Given the description of an element on the screen output the (x, y) to click on. 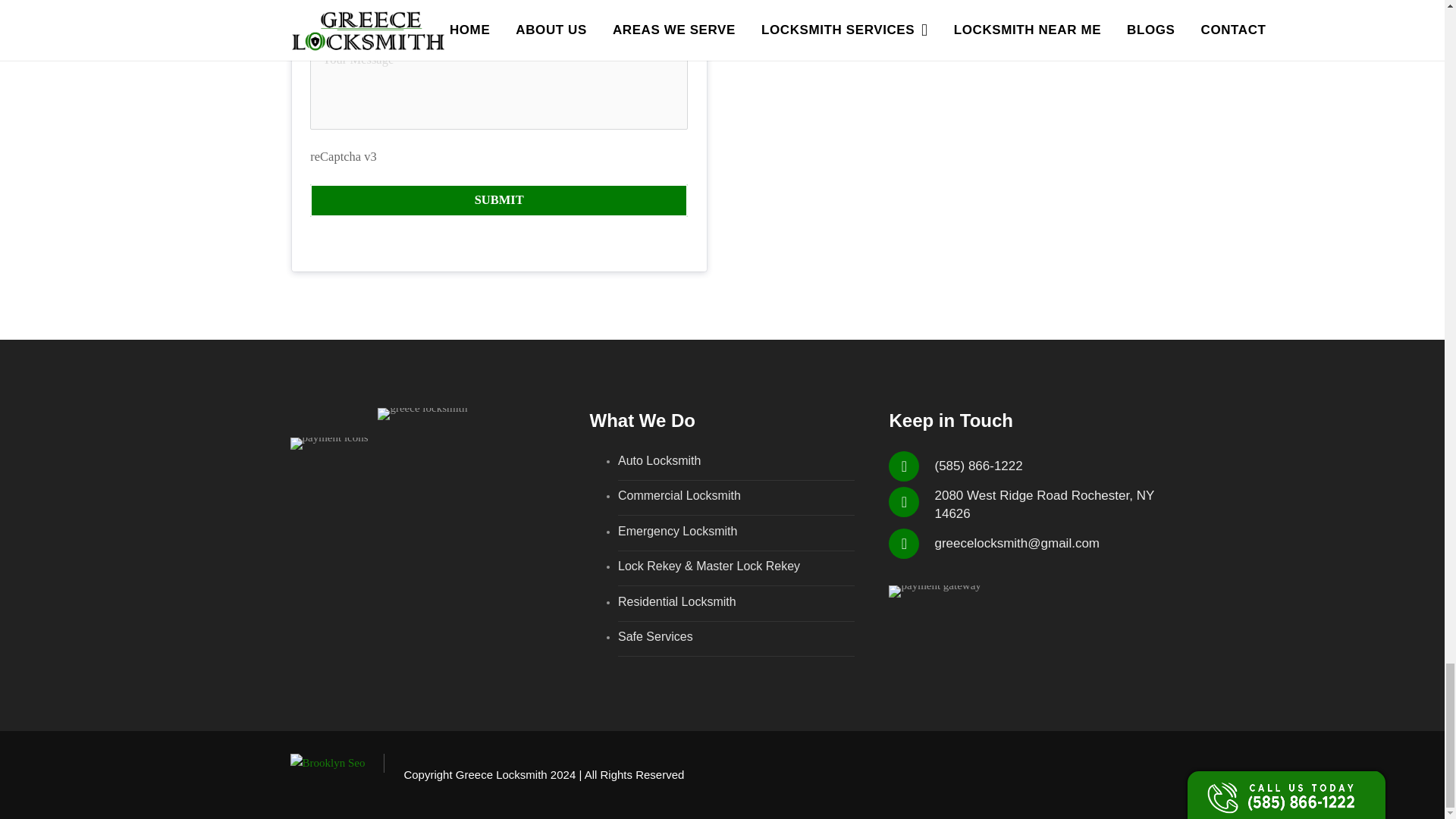
Emergency Locksmith (676, 530)
Safe Services (655, 635)
Greece Locksmith (501, 774)
SUBMIT (498, 200)
Commercial Locksmith (679, 495)
Residential Locksmith (676, 601)
Auto Locksmith (658, 460)
